Given the description of an element on the screen output the (x, y) to click on. 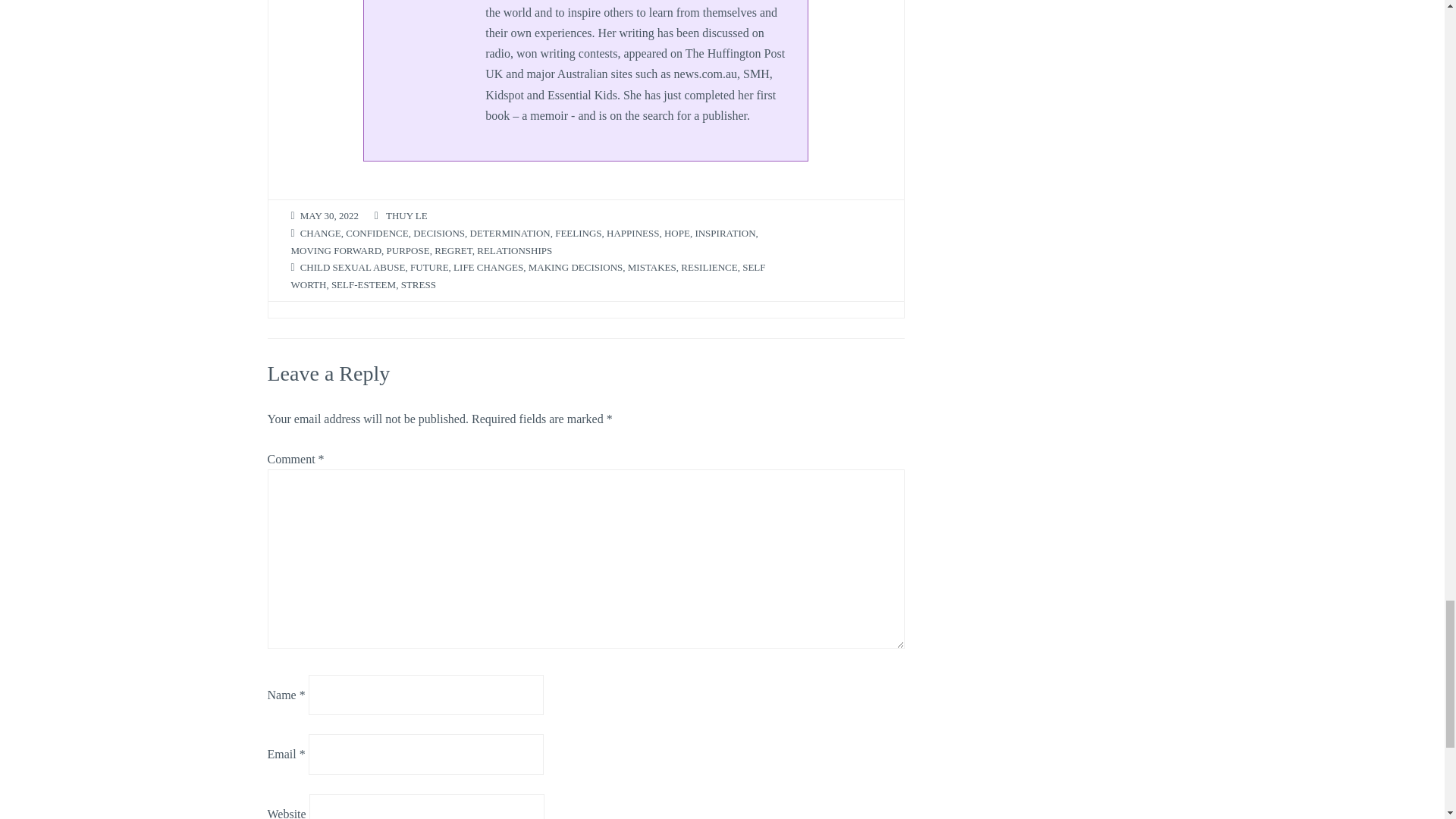
DETERMINATION (510, 233)
THUY LE (406, 215)
REGRET (452, 250)
INSPIRATION (724, 233)
RELATIONSHIPS (514, 250)
HOPE (676, 233)
CHANGE (319, 233)
MAY 30, 2022 (328, 215)
PURPOSE (408, 250)
HAPPINESS (633, 233)
